Given the description of an element on the screen output the (x, y) to click on. 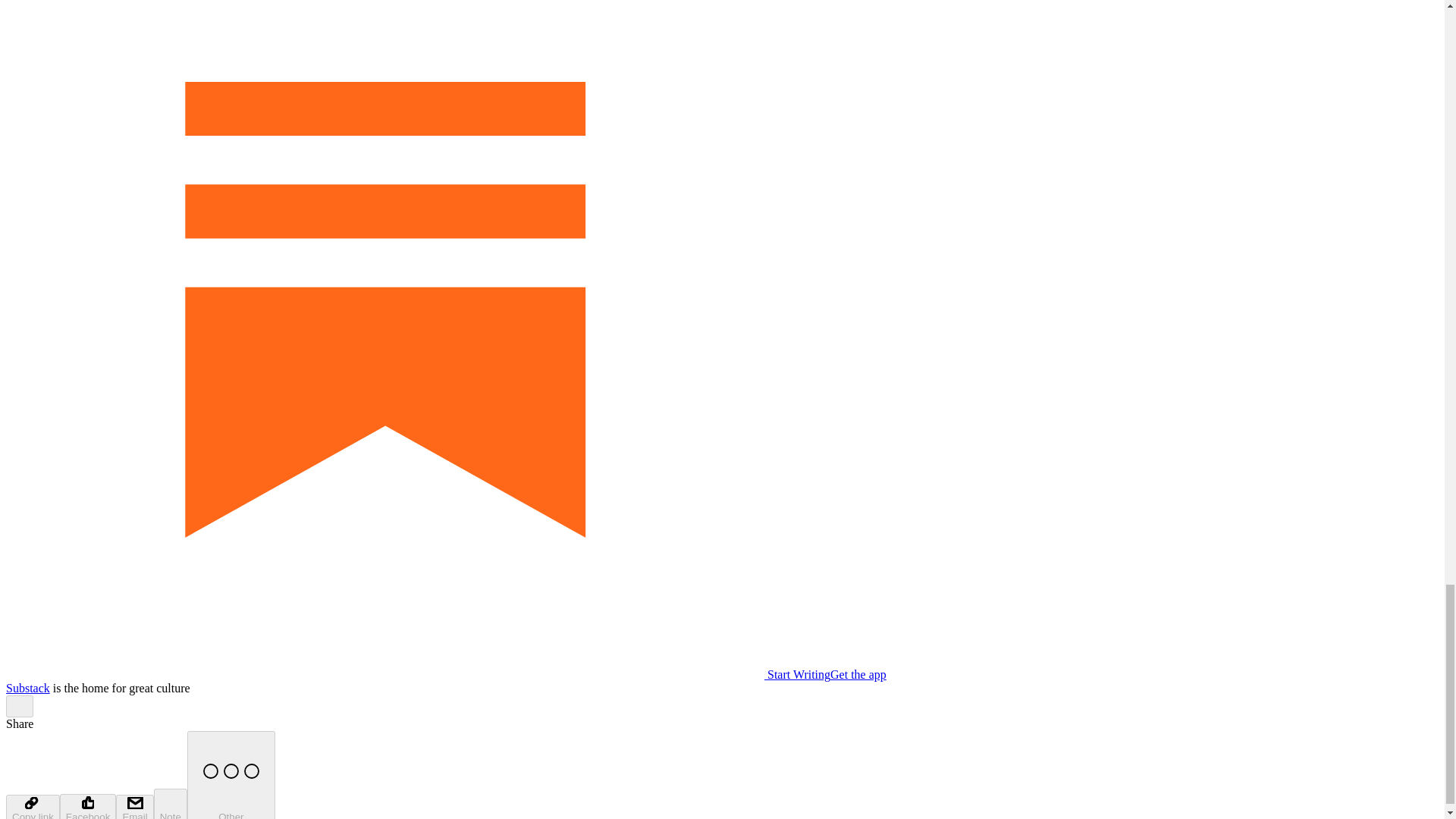
Start Writing (417, 674)
Substack (27, 687)
Get the app (857, 674)
